Given the description of an element on the screen output the (x, y) to click on. 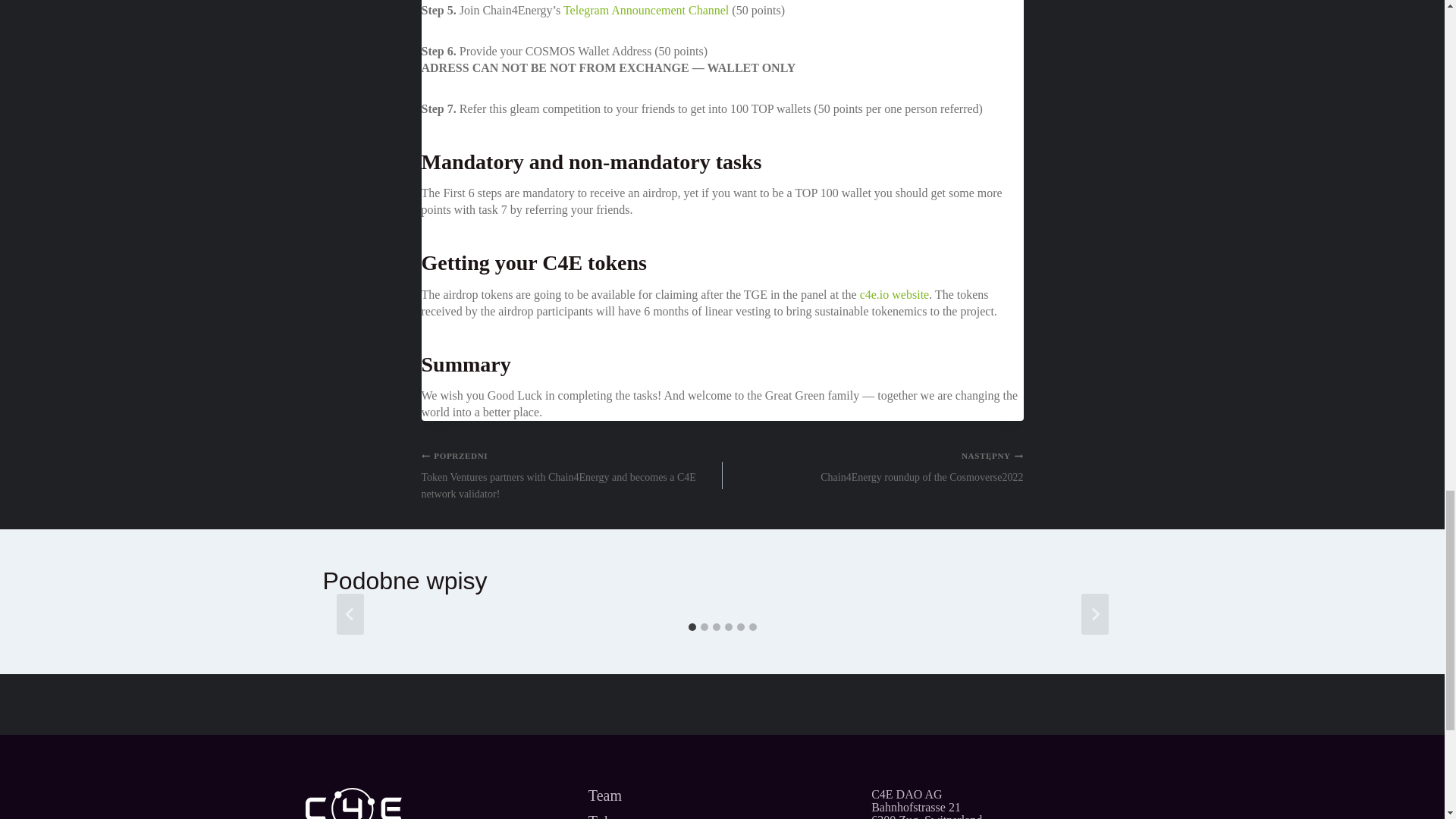
c4e.io website (1004, 803)
Telegram Announcement Channel (895, 294)
